Given the description of an element on the screen output the (x, y) to click on. 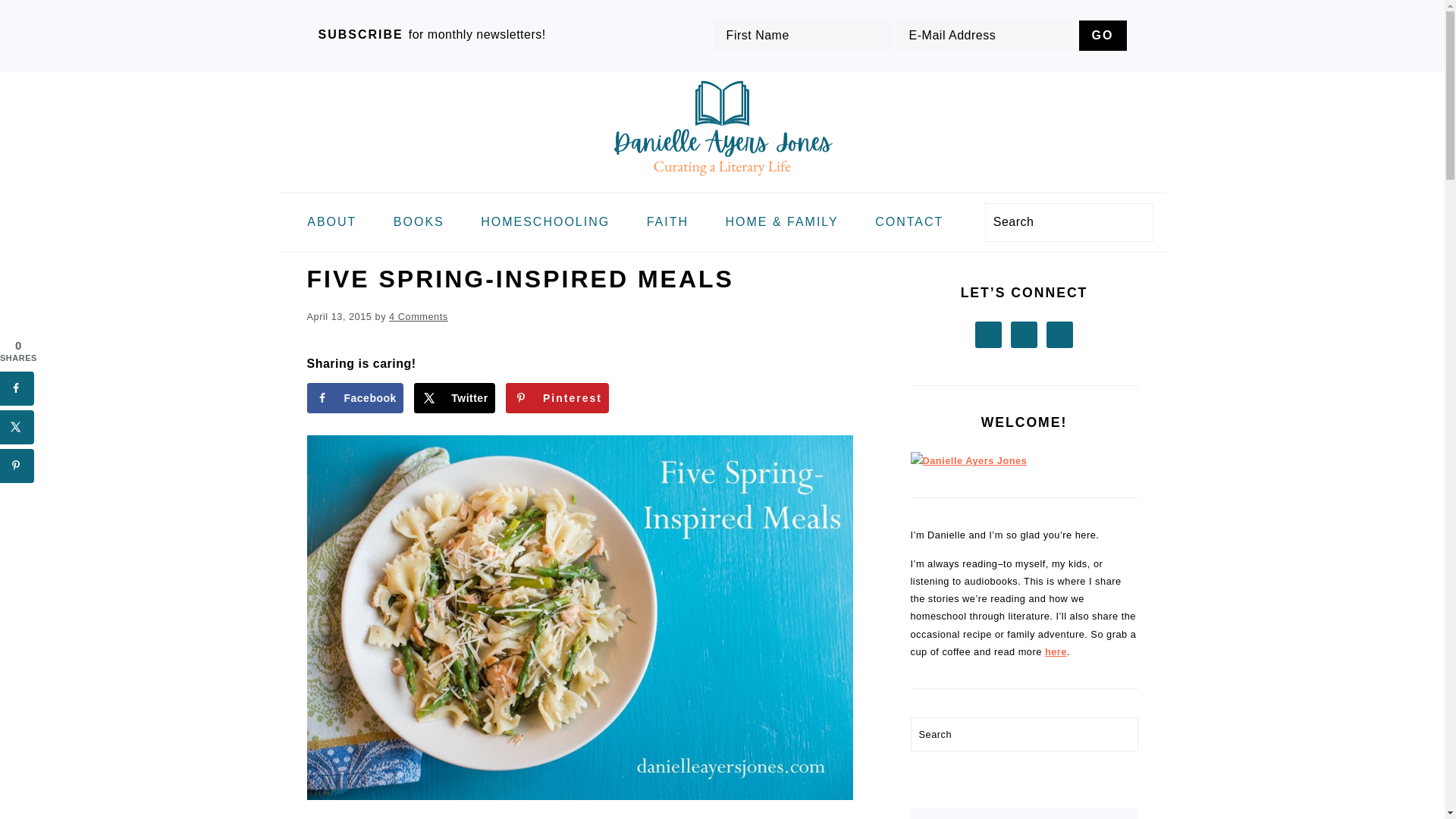
Twitter (454, 398)
BOOKS (418, 222)
FAITH (667, 222)
Go (1102, 35)
HOMESCHOOLING (545, 222)
CONTACT (909, 222)
Go (1102, 35)
Facebook (354, 398)
